Given the description of an element on the screen output the (x, y) to click on. 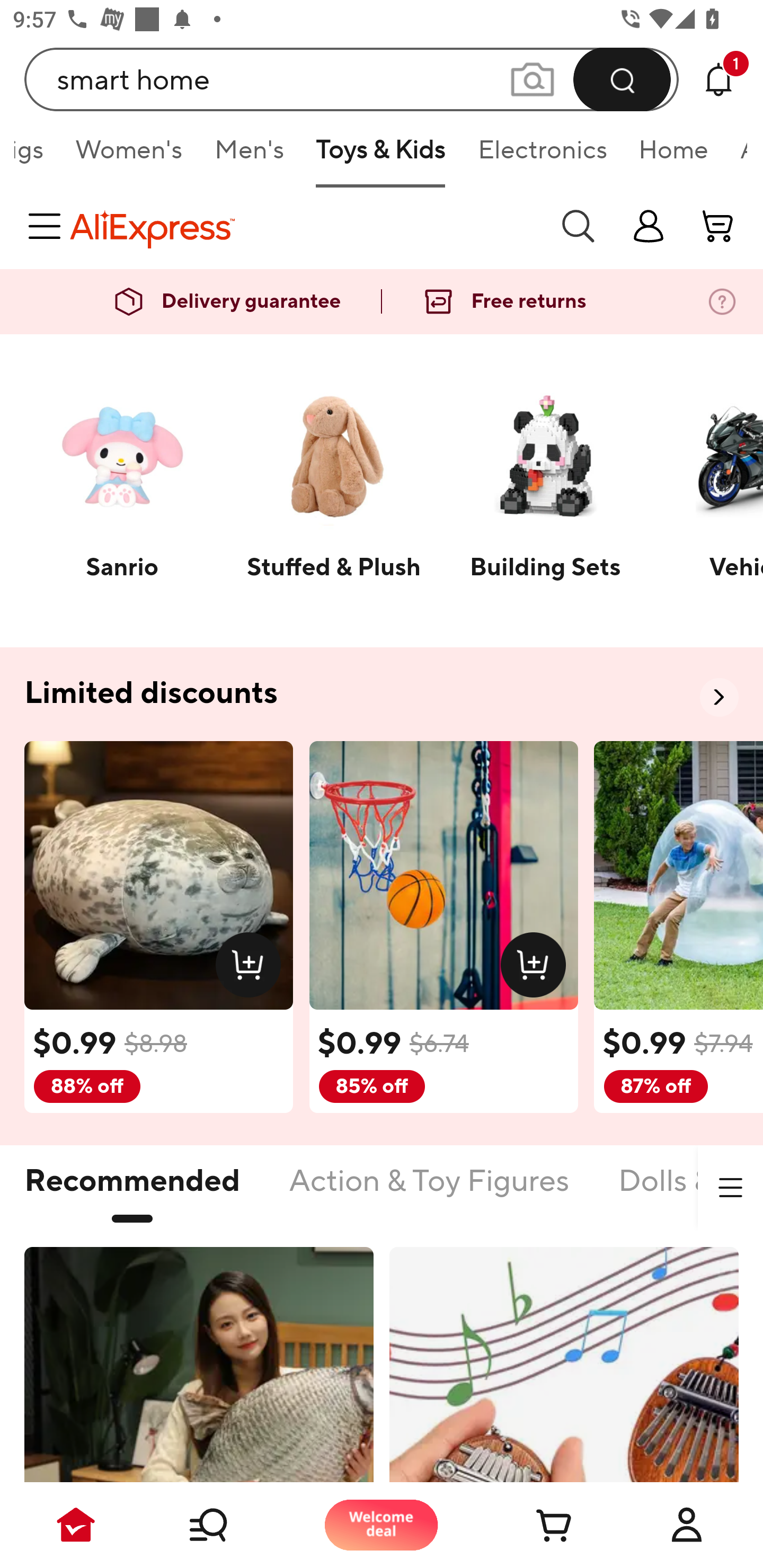
smart home (351, 79)
Women's (128, 155)
Men's (248, 155)
Electronics (541, 155)
Home (673, 155)
aliexpress (305, 225)
category (47, 225)
shop (648, 225)
account (718, 225)
Limited discounts  Limited discounts (381, 694)
128x128.png_ (252, 967)
128x128.png_ (536, 967)
 (730, 1188)
Recommended (132, 1191)
Action & Toy Figures (428, 1191)
Shop (228, 1524)
Cart (533, 1524)
Account (686, 1524)
